Given the description of an element on the screen output the (x, y) to click on. 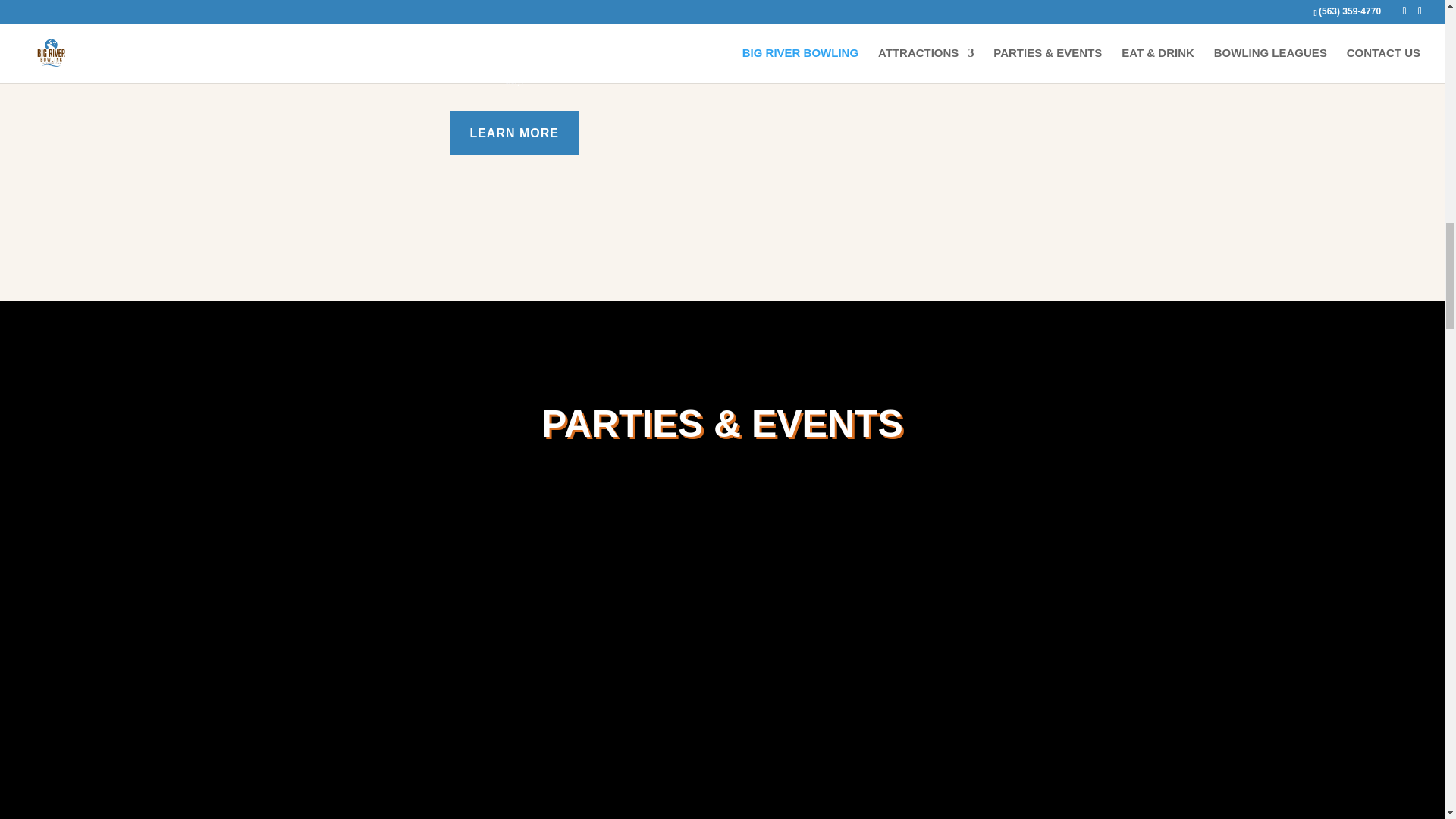
Bowling-balls (930, 90)
LEARN MORE (513, 132)
